Given the description of an element on the screen output the (x, y) to click on. 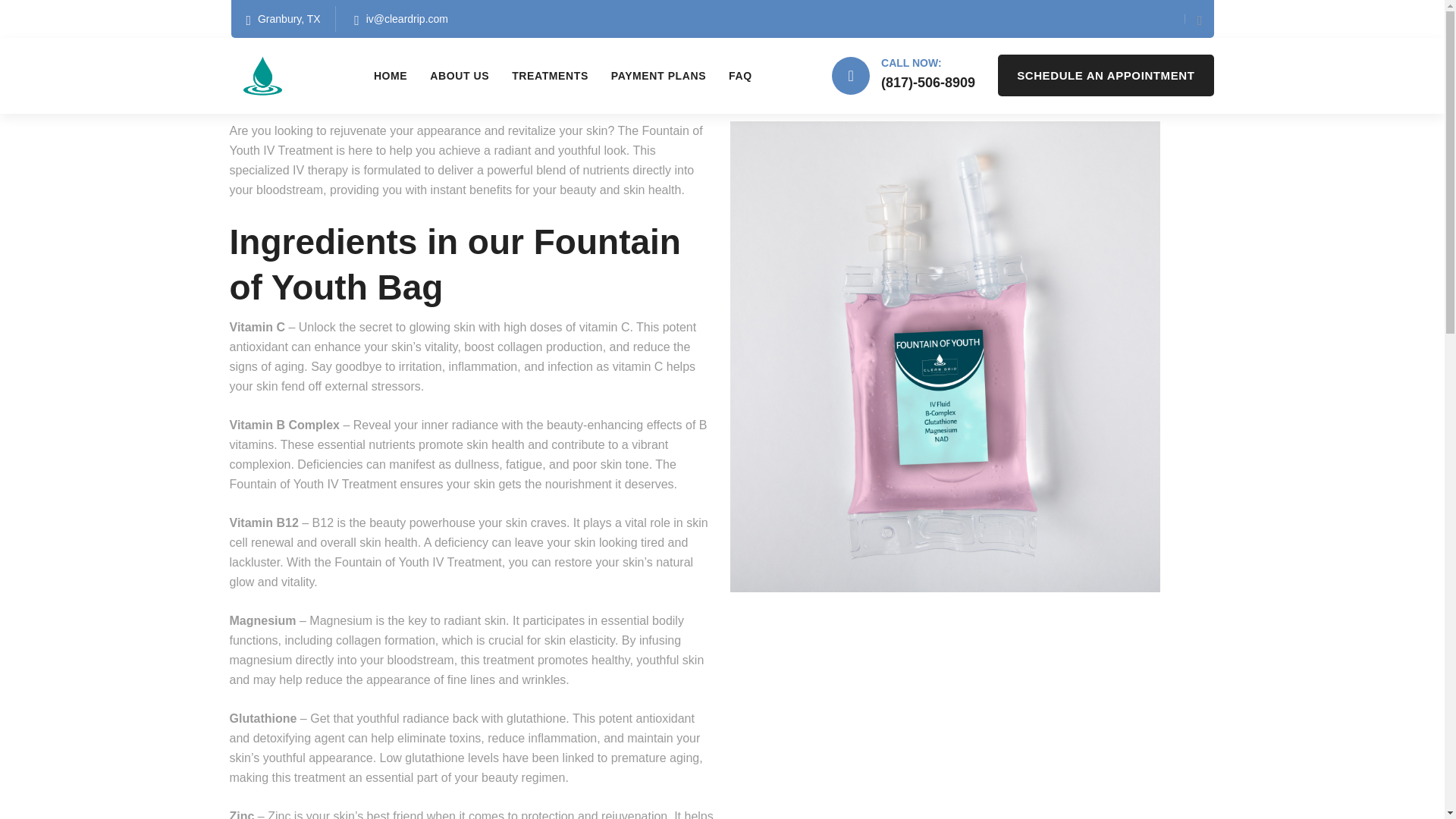
TREATMENTS (550, 75)
SCHEDULE AN APPOINTMENT (1104, 75)
HOME (390, 75)
FAQ (740, 75)
PAYMENT PLANS (658, 75)
ABOUT US (459, 75)
